Given the description of an element on the screen output the (x, y) to click on. 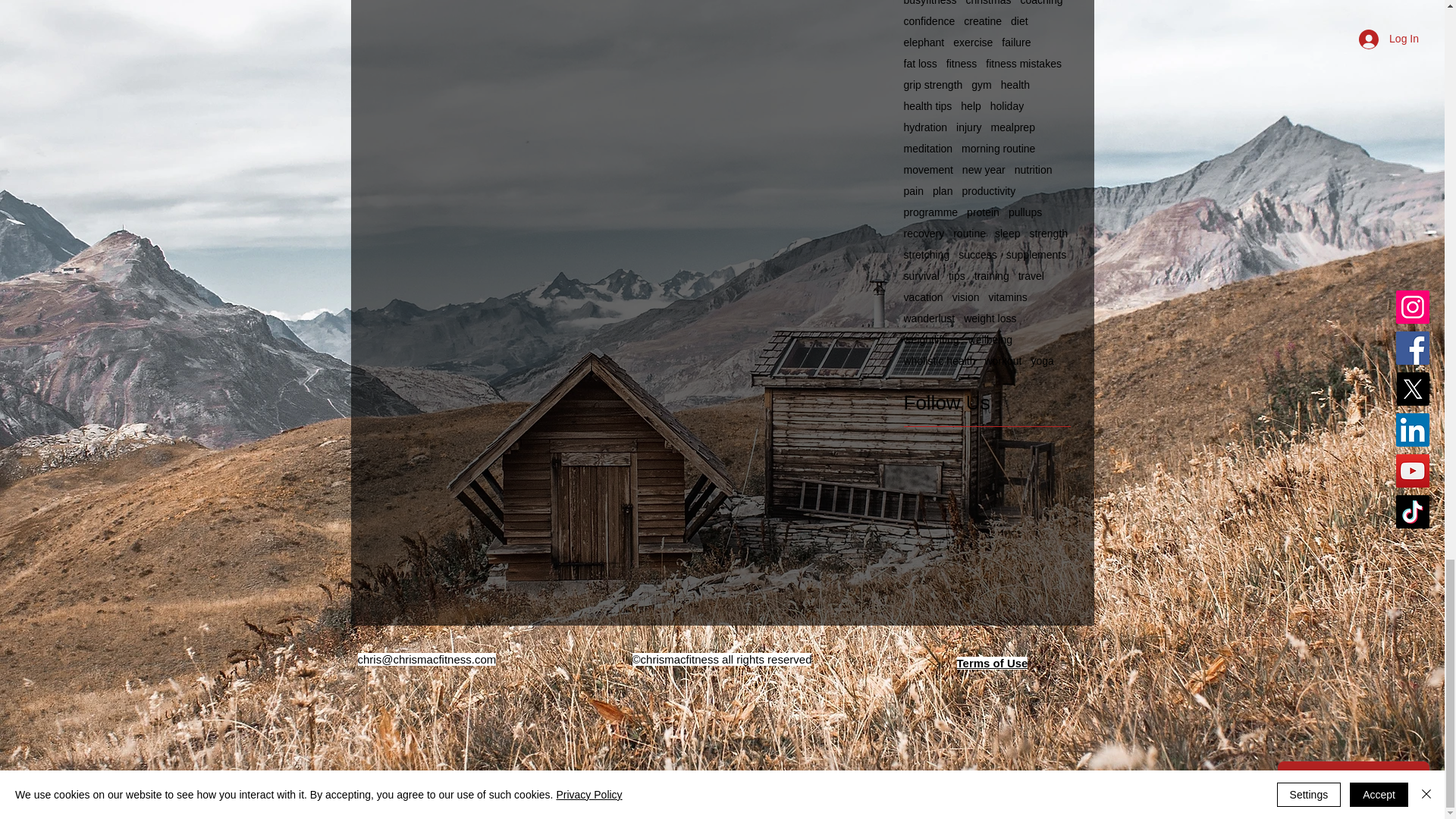
Embedded Content (1092, 678)
